Given the description of an element on the screen output the (x, y) to click on. 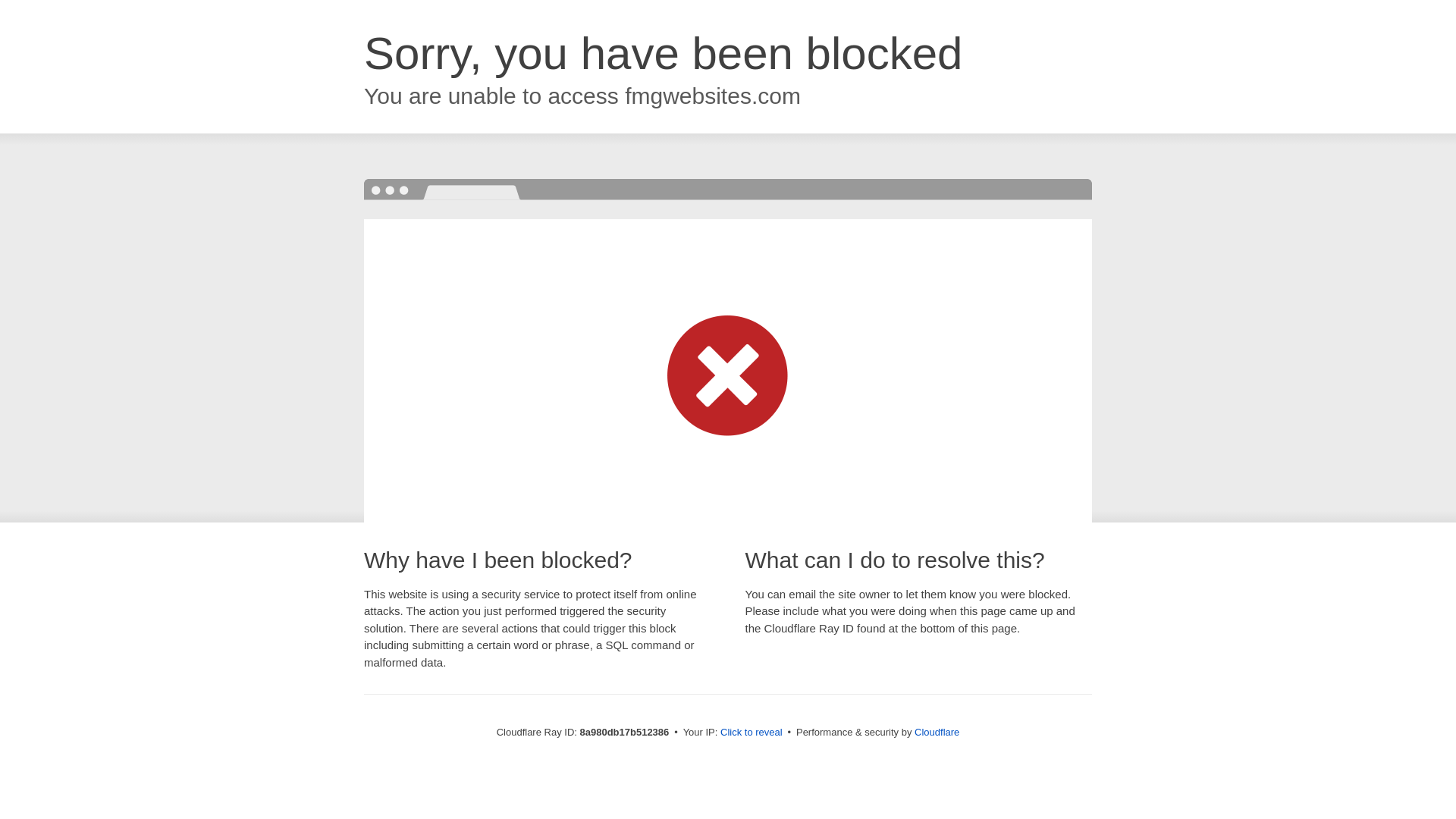
Click to reveal (751, 732)
Cloudflare (936, 731)
